Given the description of an element on the screen output the (x, y) to click on. 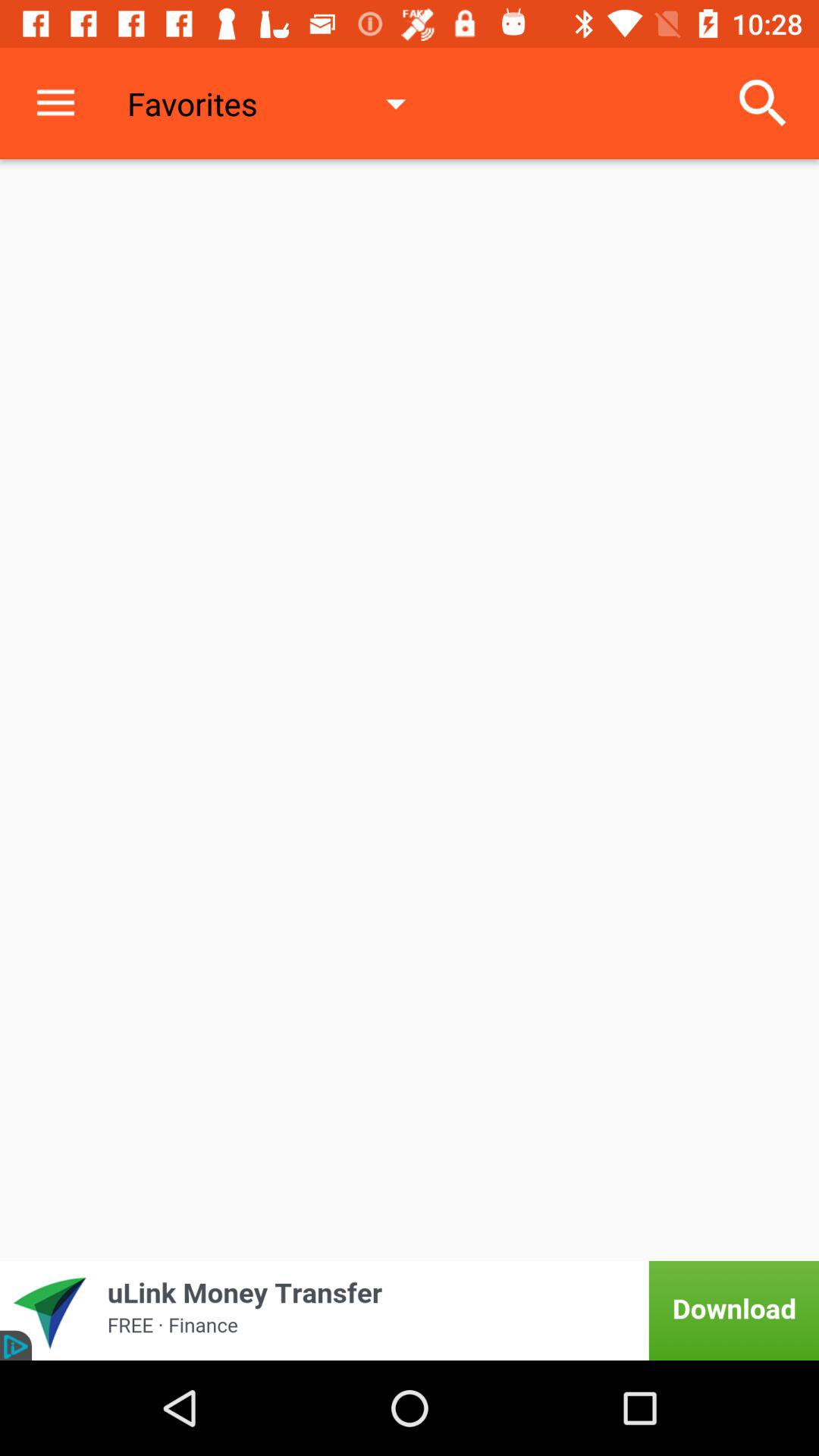
select advertisement (409, 1310)
